Given the description of an element on the screen output the (x, y) to click on. 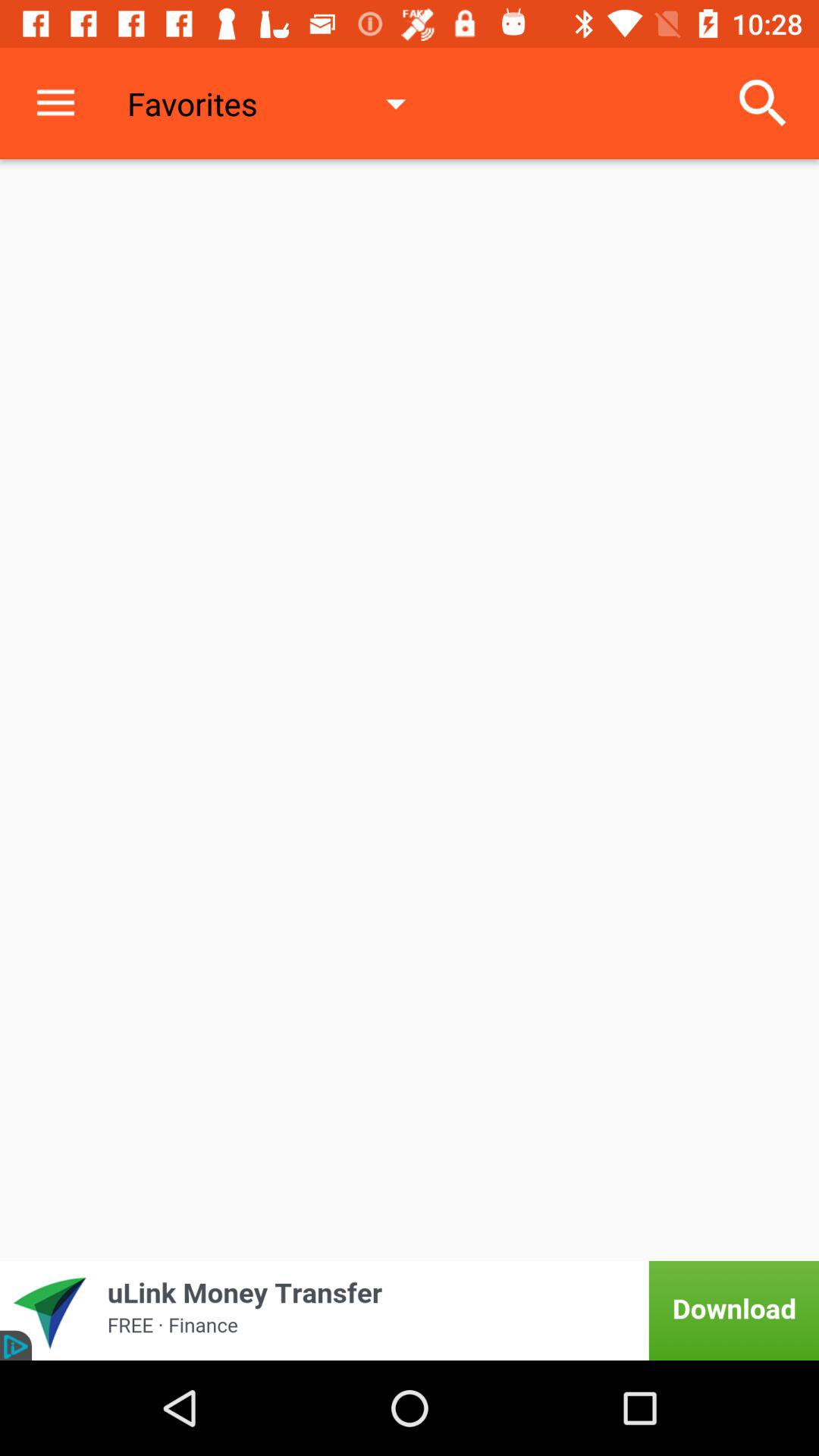
select advertisement (409, 1310)
